Given the description of an element on the screen output the (x, y) to click on. 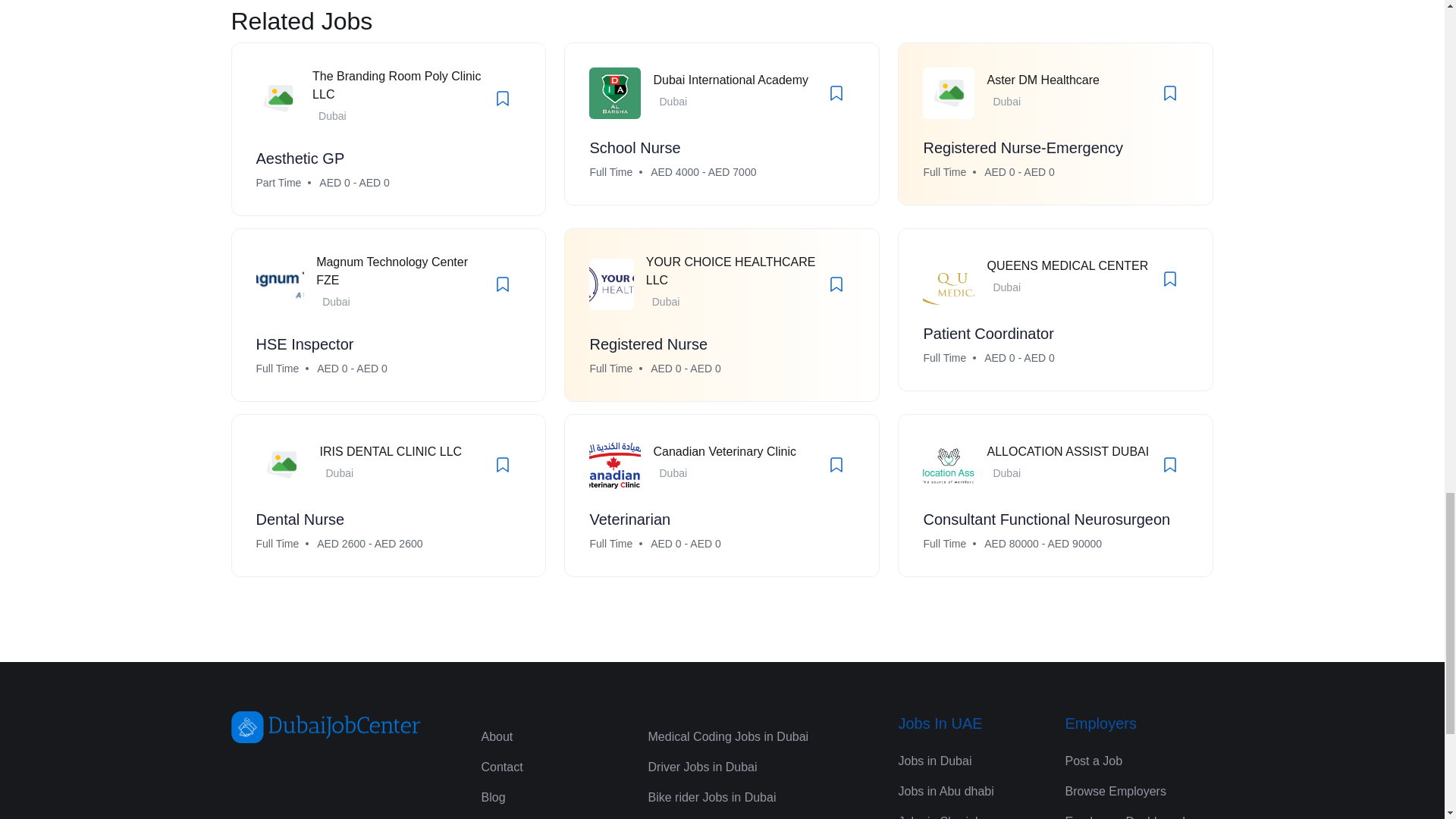
Dubai International Academy (730, 79)
Aesthetic GP (300, 158)
School Nurse (634, 147)
The Branding Room Poly Clinic LLC (396, 84)
Aster DM Healthcare (1043, 79)
Magnum Technology Center FZE (391, 270)
Registered Nurse-Emergency (1022, 147)
